Given the description of an element on the screen output the (x, y) to click on. 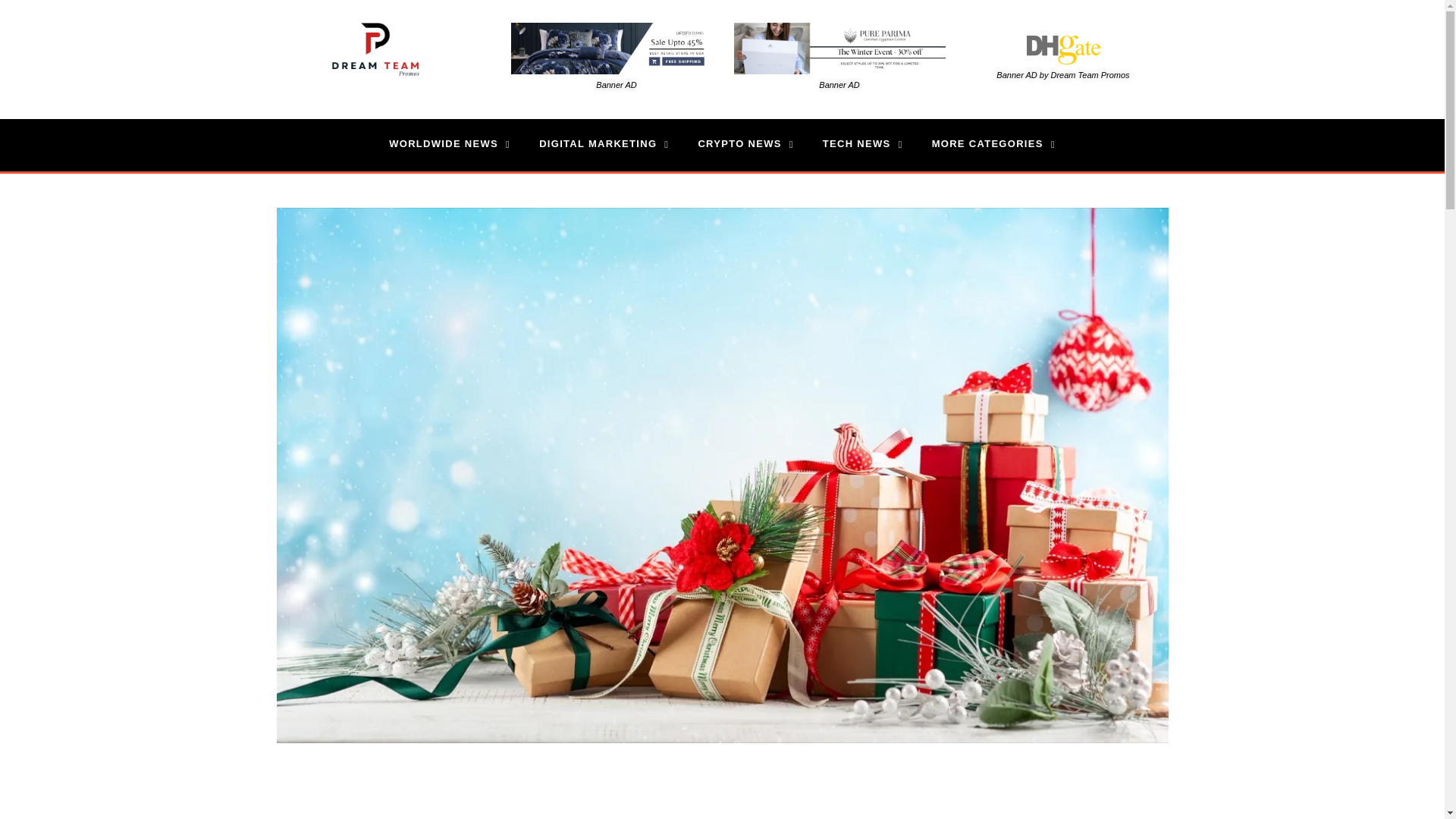
TECH NEWS (862, 144)
DIGITAL MARKETING (603, 144)
WORLDWIDE NEWS (449, 144)
CRYPTO NEWS (745, 144)
